Given the description of an element on the screen output the (x, y) to click on. 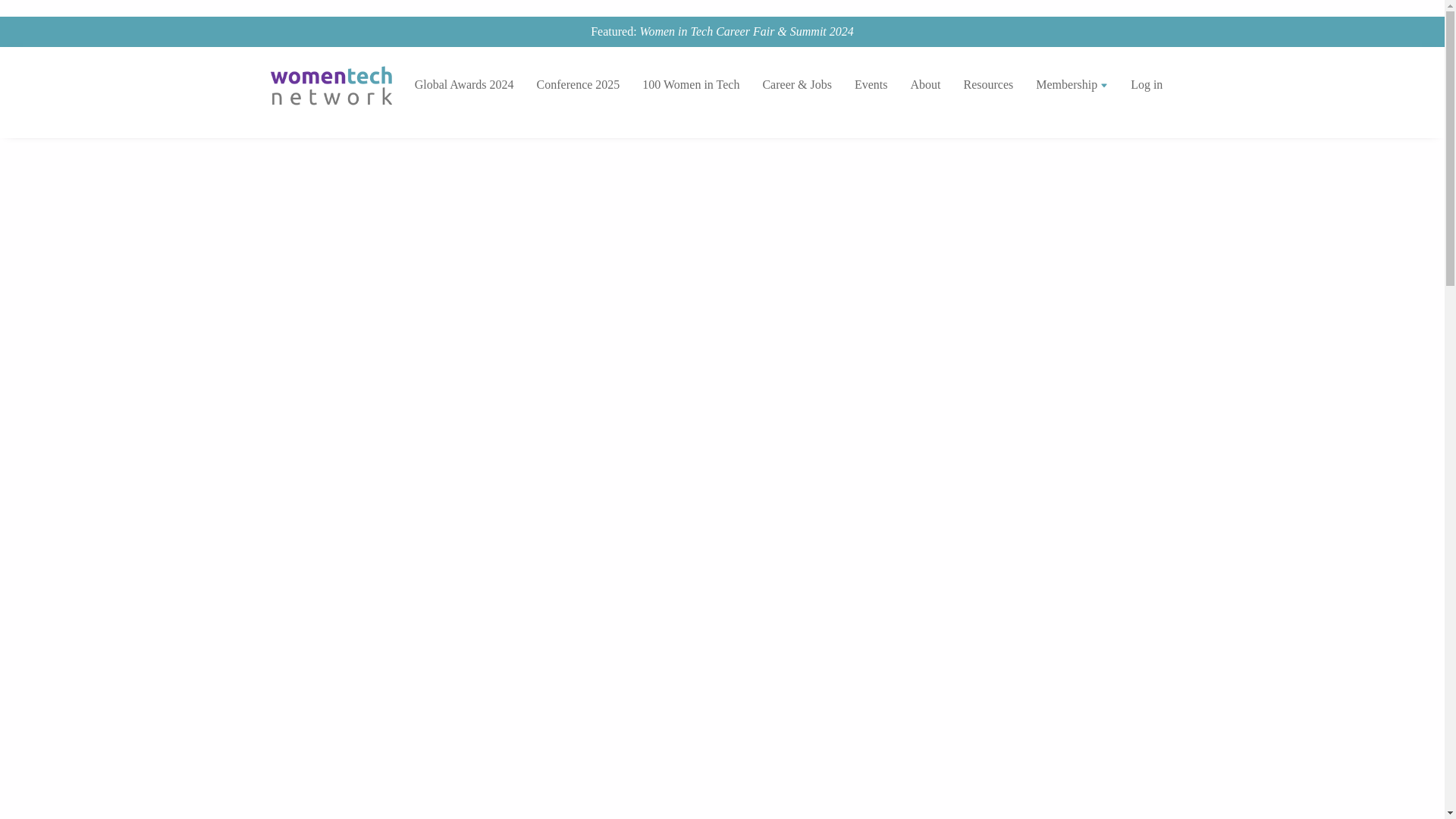
Conference 2025 (578, 84)
100 Women in Tech (690, 84)
Home (336, 84)
Global Awards 2024 (464, 84)
